Given the description of an element on the screen output the (x, y) to click on. 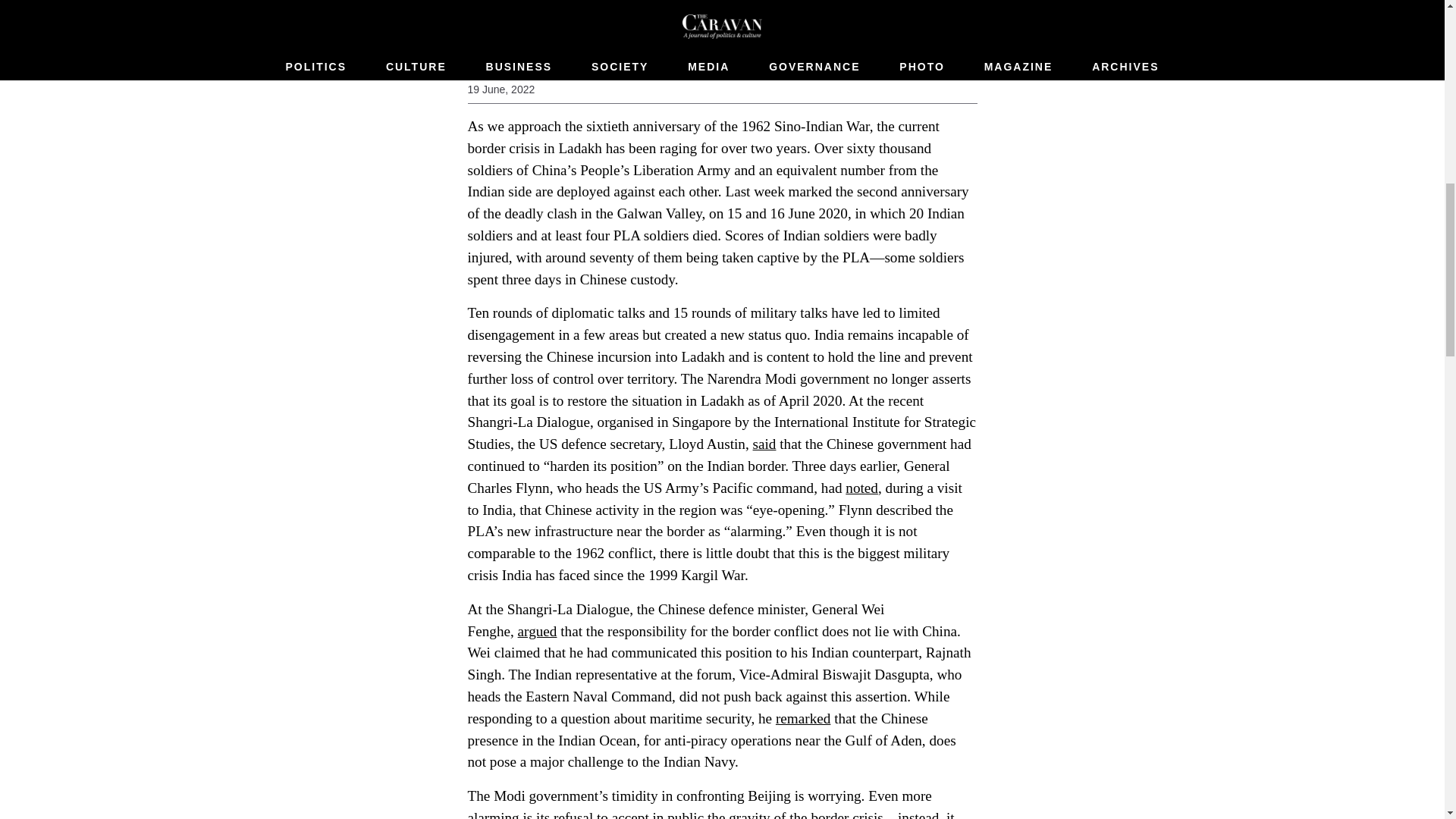
noted (861, 487)
remarked (802, 718)
argued (537, 631)
said (764, 443)
SUSHANT SINGH (513, 68)
